Given the description of an element on the screen output the (x, y) to click on. 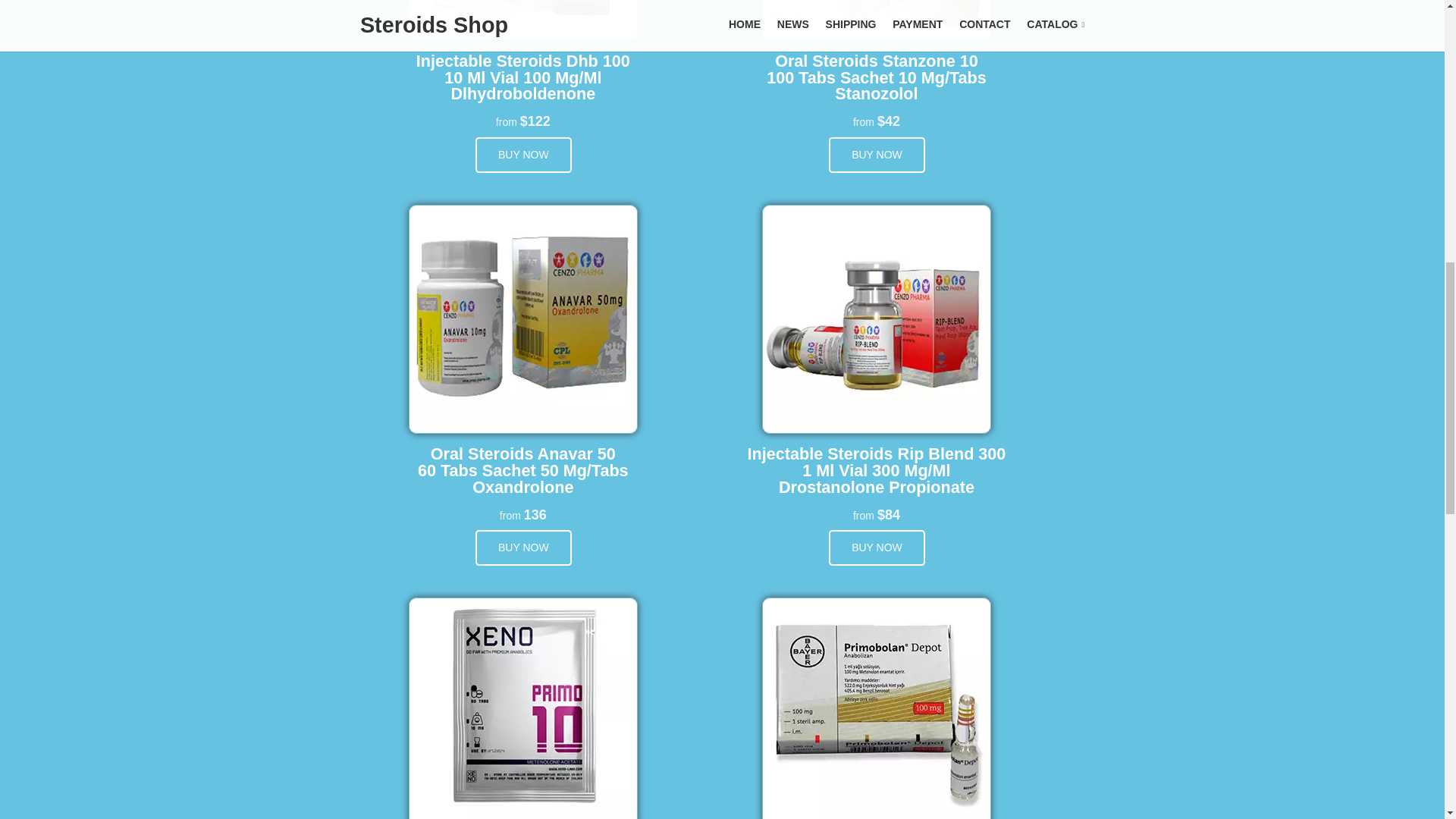
BUY NOW (876, 154)
BUY NOW (524, 154)
BUY NOW (524, 547)
BUY NOW (876, 547)
